Given the description of an element on the screen output the (x, y) to click on. 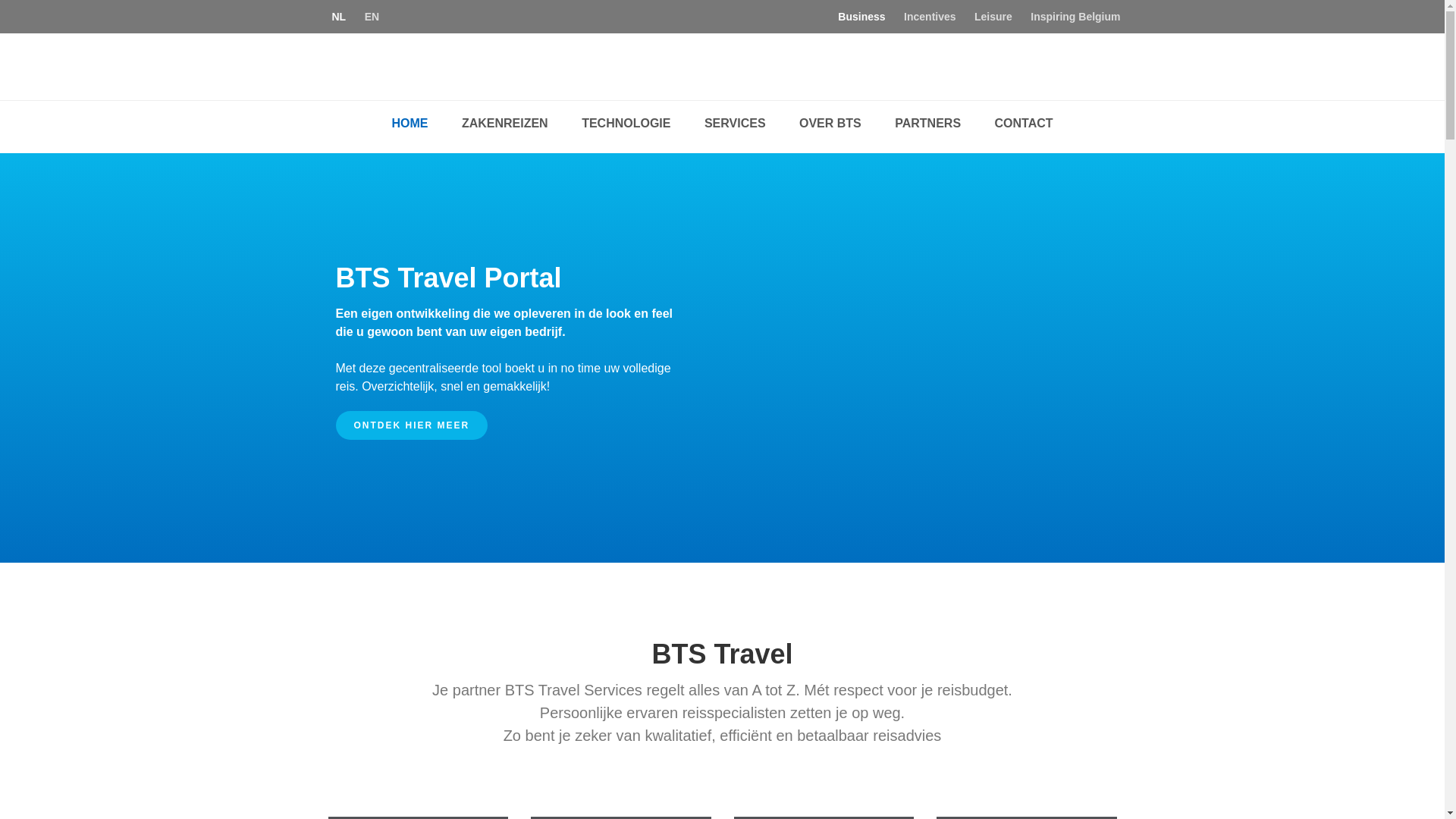
EN Element type: text (371, 17)
Leisure Element type: text (992, 17)
NL Element type: text (339, 17)
ZAKENREIZEN Element type: text (504, 123)
BTS Travel Services regelt alles van A tot Z. Element type: text (721, 65)
ONTDEK HIER MEER Element type: text (411, 425)
Incentives Element type: text (929, 17)
SERVICES Element type: text (735, 123)
Inspiring Belgium Element type: text (1074, 17)
Business Element type: text (861, 17)
PARTNERS Element type: text (927, 123)
OVER BTS Element type: text (830, 123)
TECHNOLOGIE Element type: text (625, 123)
HOME Element type: text (409, 123)
CONTACT Element type: text (1023, 123)
